Given the description of an element on the screen output the (x, y) to click on. 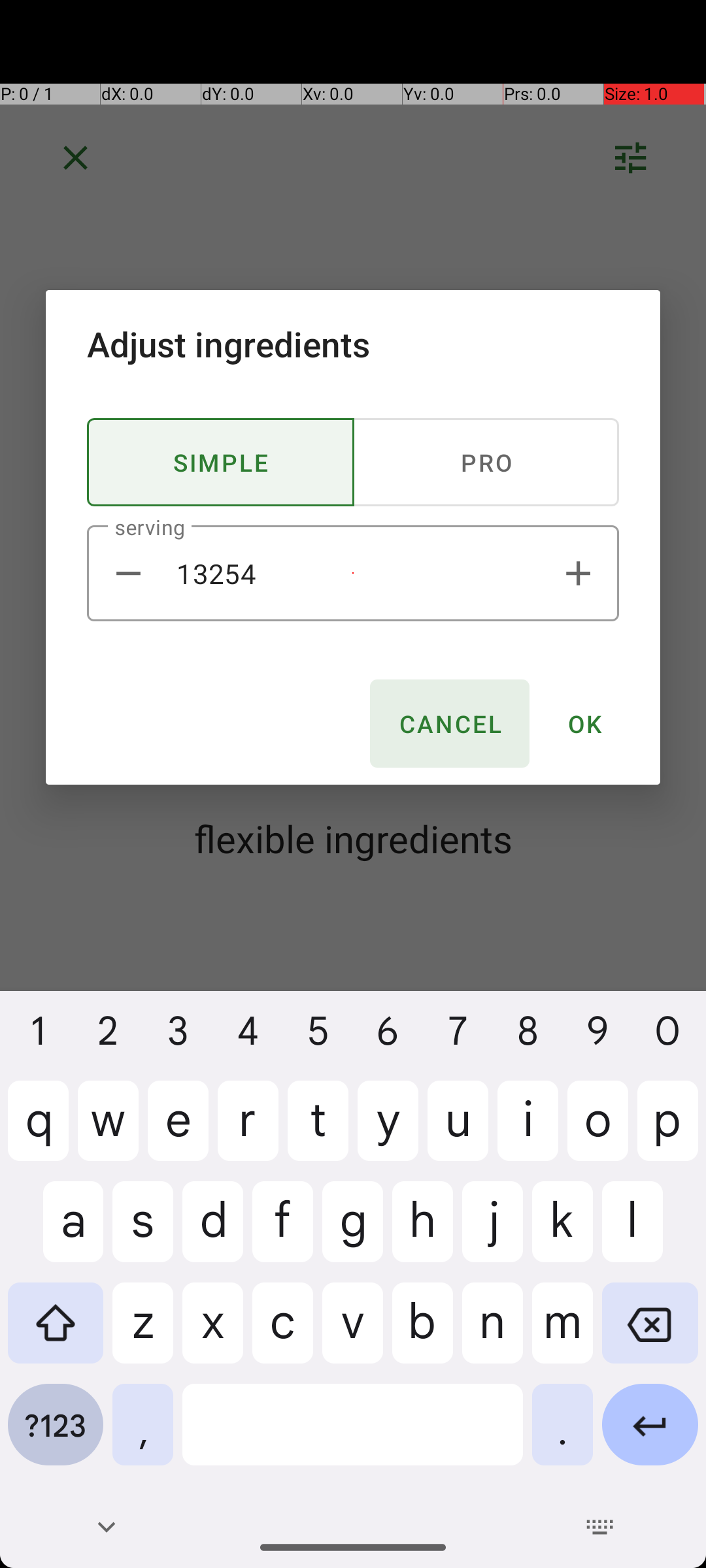
13254 Element type: android.widget.EditText (352, 573)
